Given the description of an element on the screen output the (x, y) to click on. 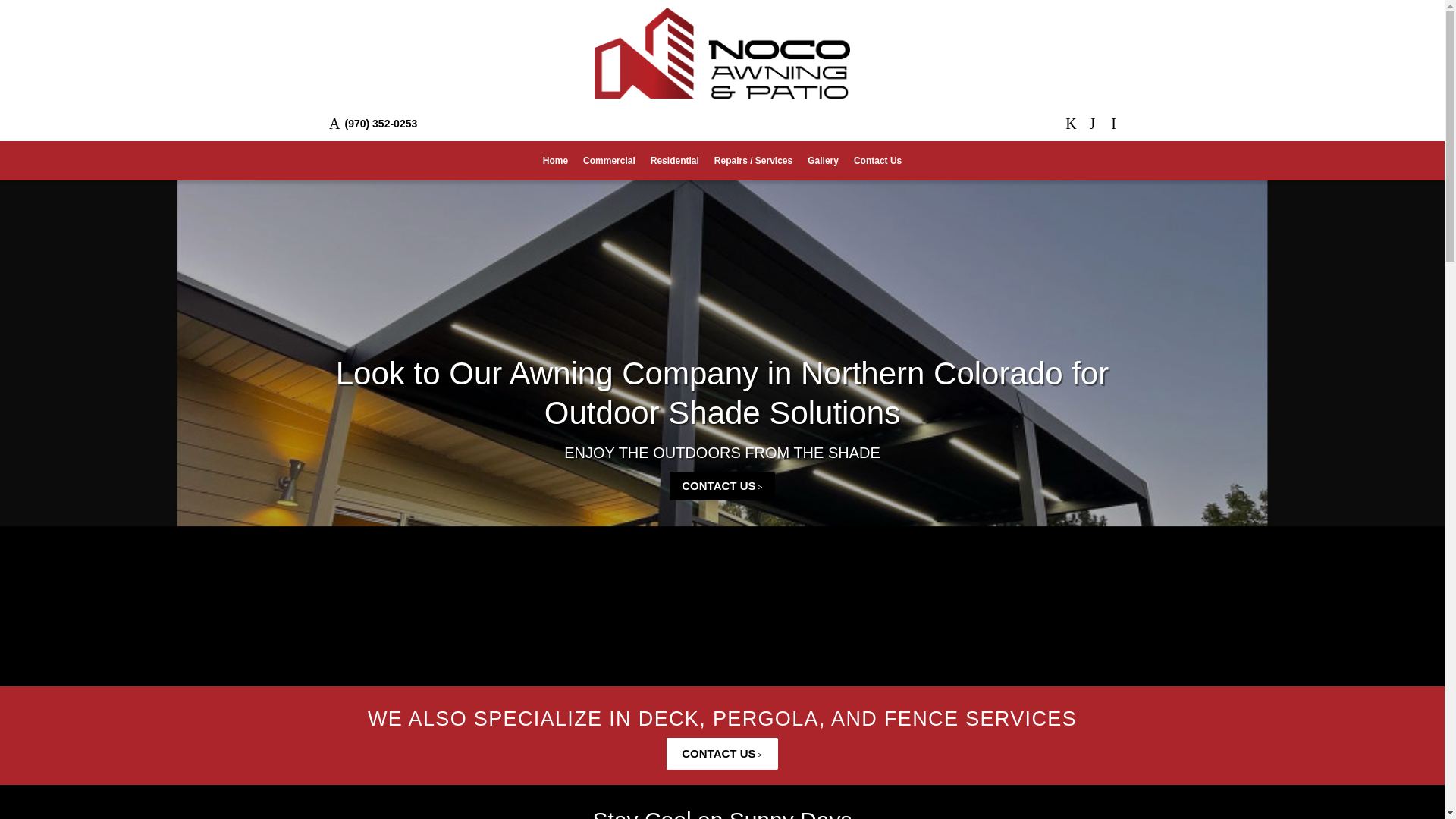
LinkedIn (1091, 123)
Home (555, 160)
Instagram (1113, 123)
Residential (674, 160)
Contact Us (876, 160)
Facebook (1070, 123)
Gallery (822, 160)
Commercial (609, 160)
